Given the description of an element on the screen output the (x, y) to click on. 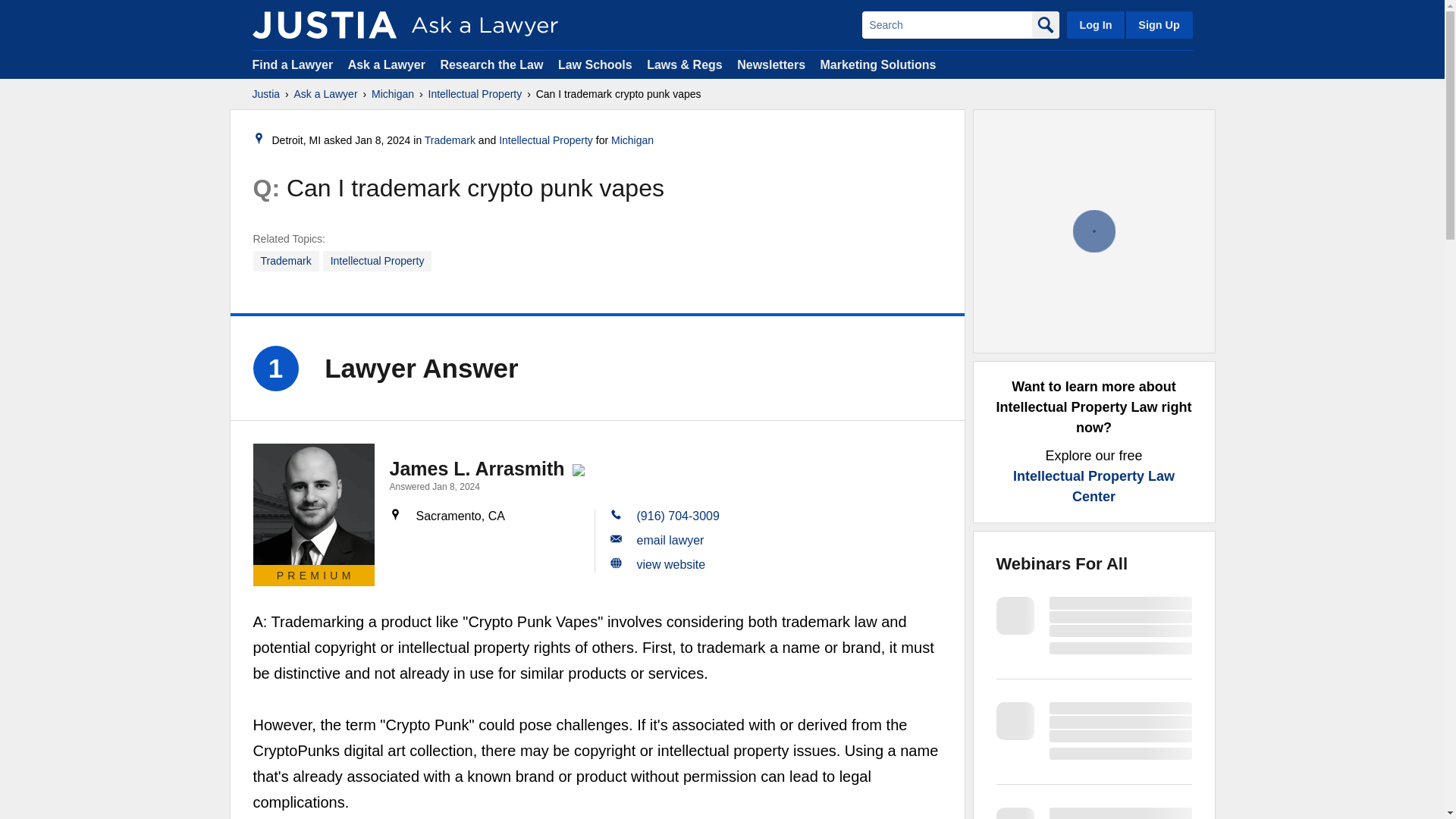
Find a Lawyer (292, 64)
Sign Up (1158, 24)
Ask a Lawyer (326, 93)
Intellectual Property (475, 93)
Ask a Lawyer (388, 64)
Newsletters (770, 64)
Michigan (392, 93)
Trademark (450, 140)
Research the Law (491, 64)
Trademark (285, 260)
